Given the description of an element on the screen output the (x, y) to click on. 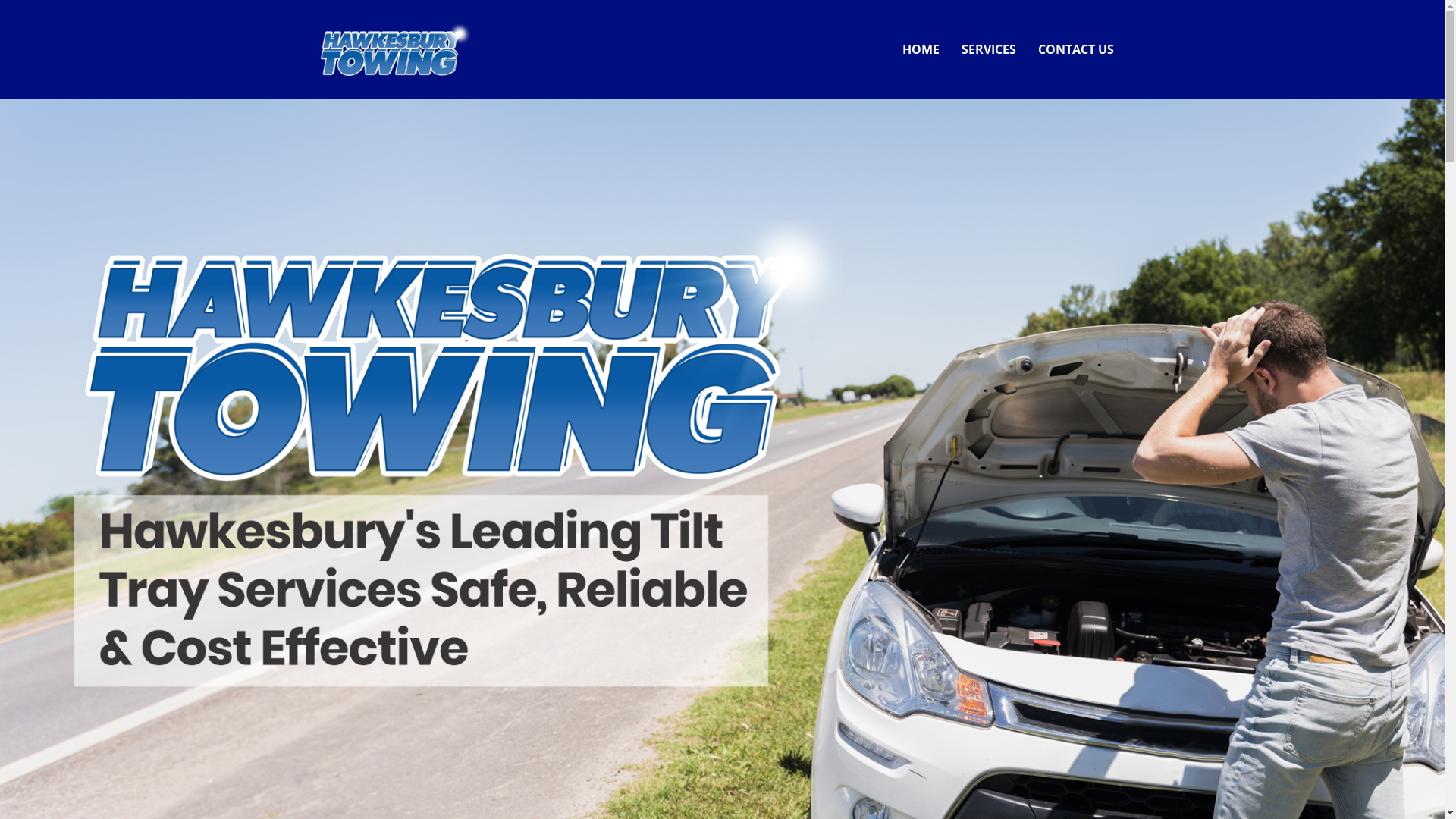
CONTACT US Element type: text (1075, 49)
HOME Element type: text (920, 49)
logo Element type: hover (395, 49)
SERVICES Element type: text (988, 49)
